Given the description of an element on the screen output the (x, y) to click on. 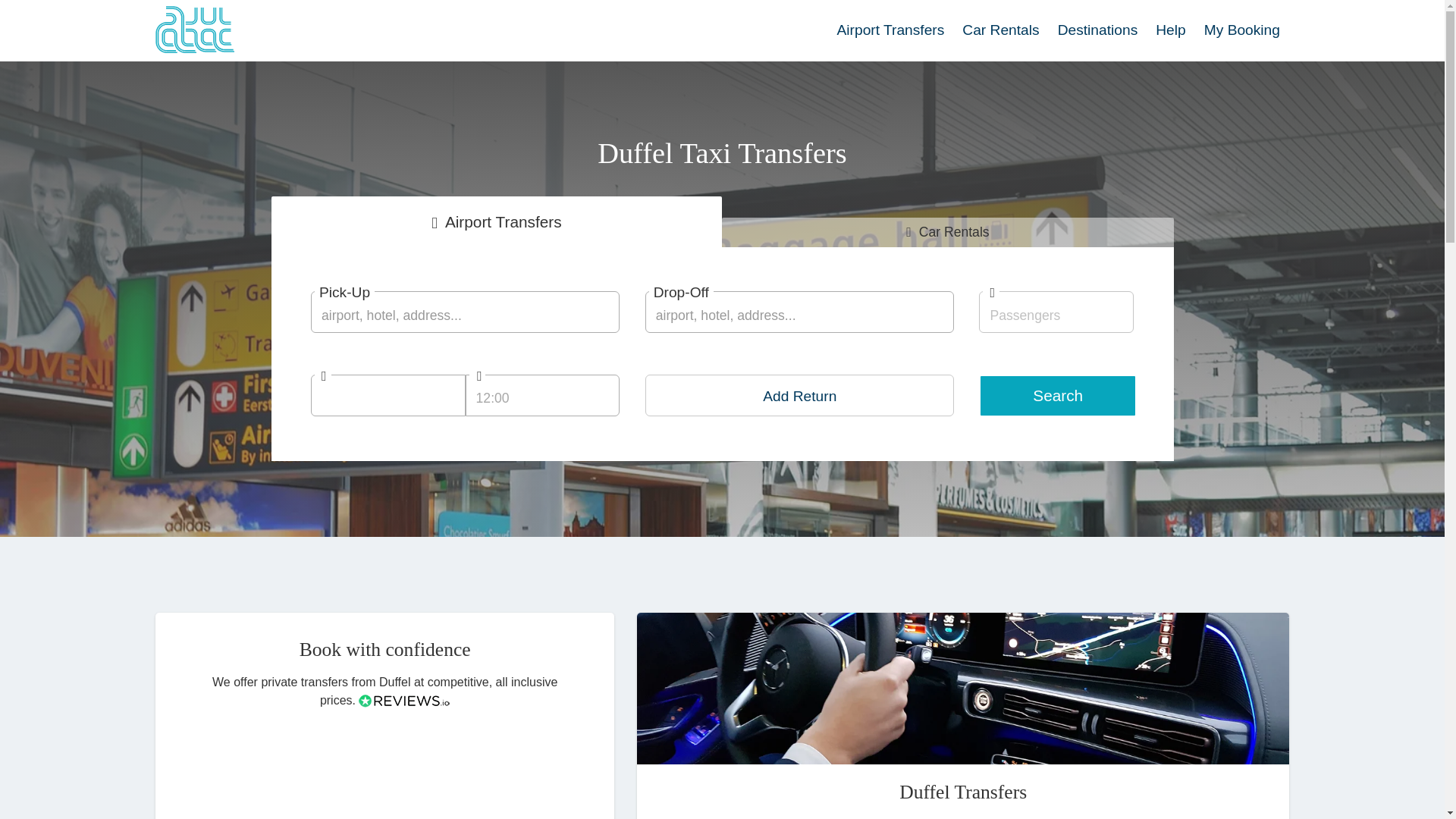
Car Rentals (947, 232)
Destinations (1097, 30)
Search (1057, 395)
12:00 (542, 395)
My Booking (1241, 30)
Airport Transfers (496, 221)
Airport Transfers (890, 30)
Help (1170, 30)
Car Rentals (1000, 30)
